Given the description of an element on the screen output the (x, y) to click on. 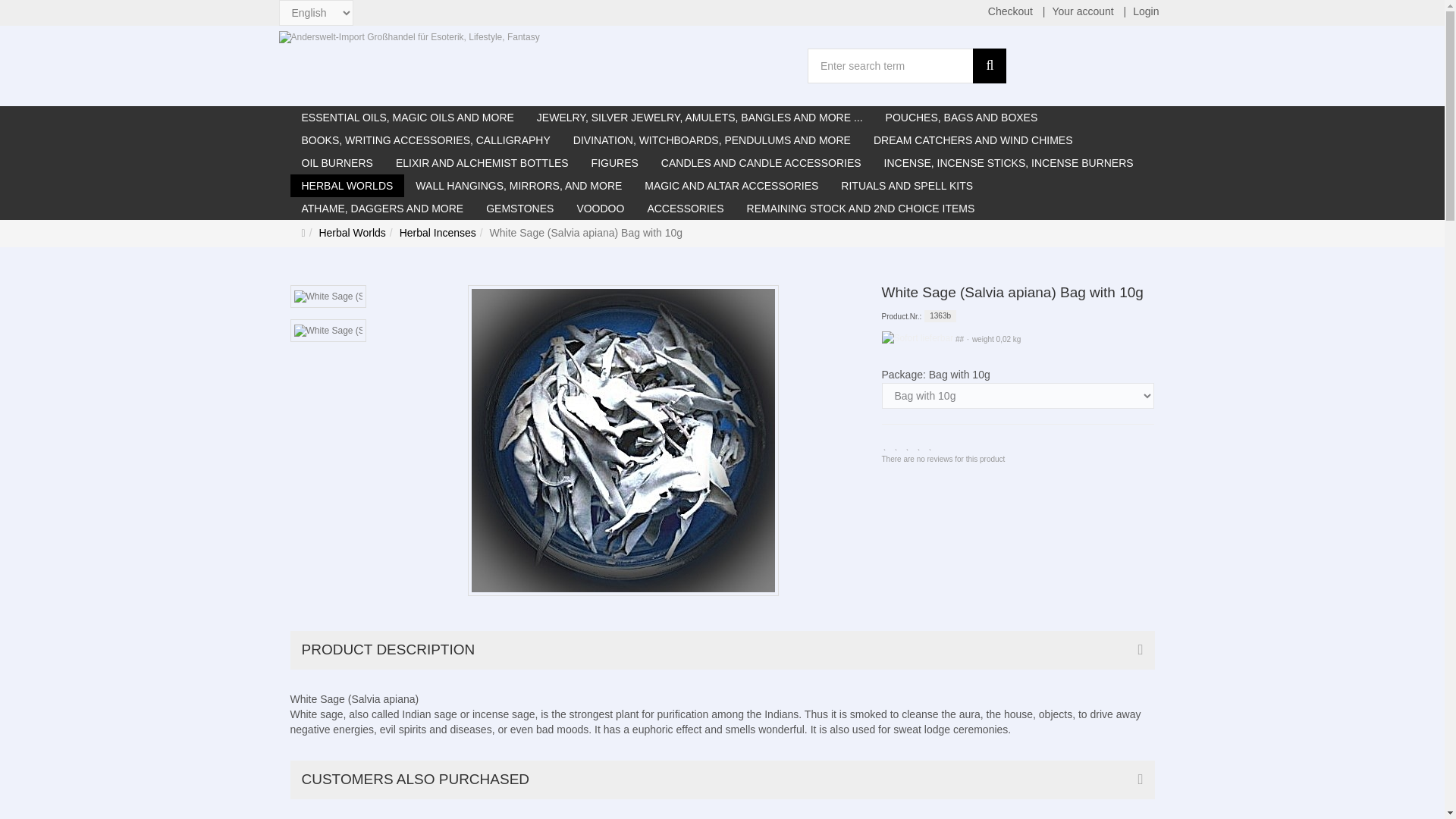
JEWELRY, SILVER JEWELRY, AMULETS, BANGLES AND MORE ... (700, 117)
search (989, 65)
Checkout (1010, 12)
Login (1145, 12)
Your account (1082, 12)
search (989, 65)
ESSENTIAL OILS, MAGIC OILS AND MORE (406, 117)
Sofort lieferbar (916, 337)
